Given the description of an element on the screen output the (x, y) to click on. 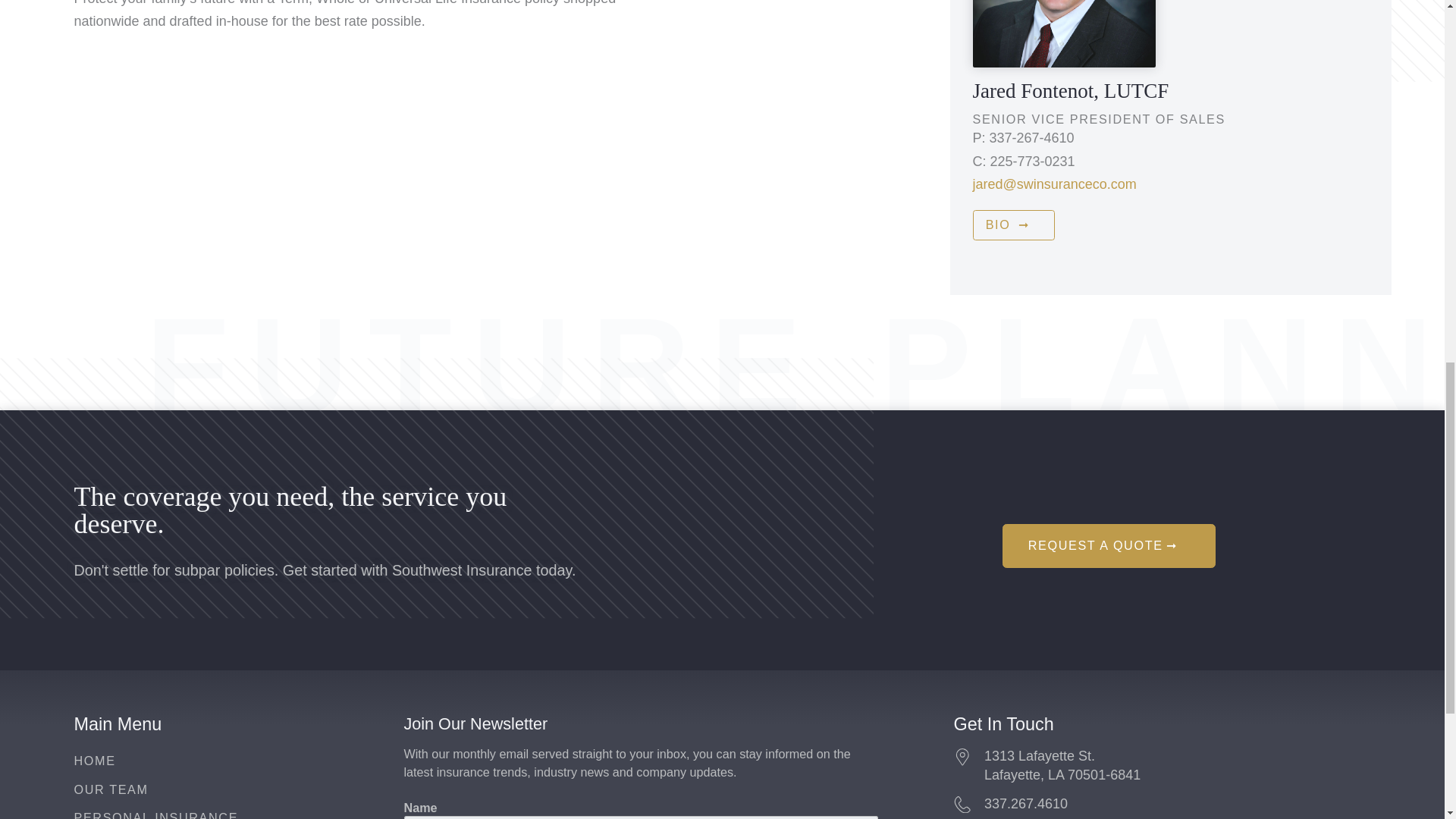
HOME (95, 760)
Cell Phone Number (978, 160)
OUR TEAM (111, 789)
BIO (1013, 224)
PERSONAL INSURANCE (156, 814)
REQUEST A QUOTE (1162, 765)
Jared Fontenot, LUTCF (1108, 545)
